Given the description of an element on the screen output the (x, y) to click on. 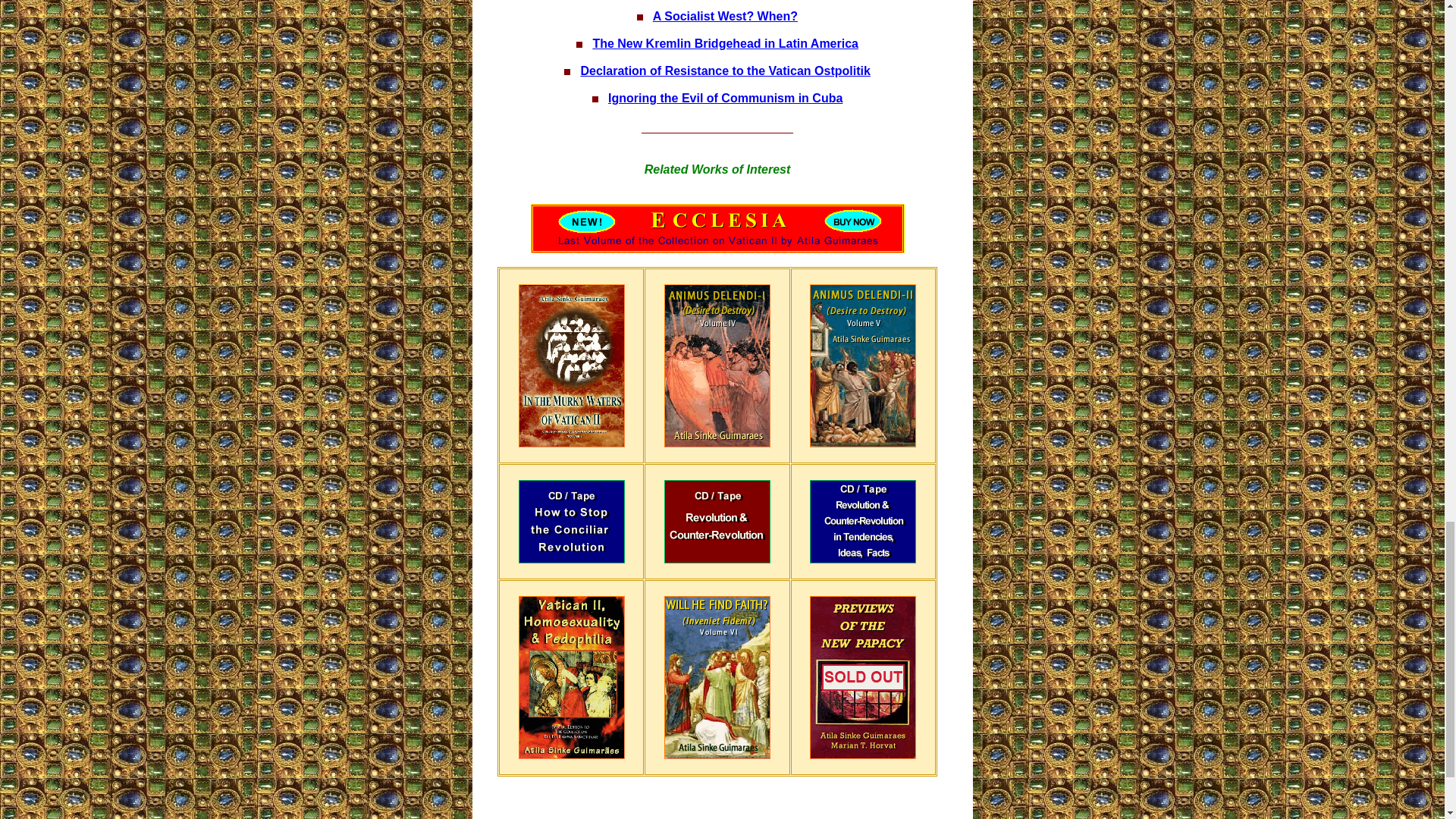
The New Kremlin Bridgehead in Latin America (725, 42)
A Socialist West? When? (724, 15)
Declaration of Resistance to the Vatican Ostpolitik (725, 70)
Ignoring the Evil of Communism in Cuba (725, 97)
